Given the description of an element on the screen output the (x, y) to click on. 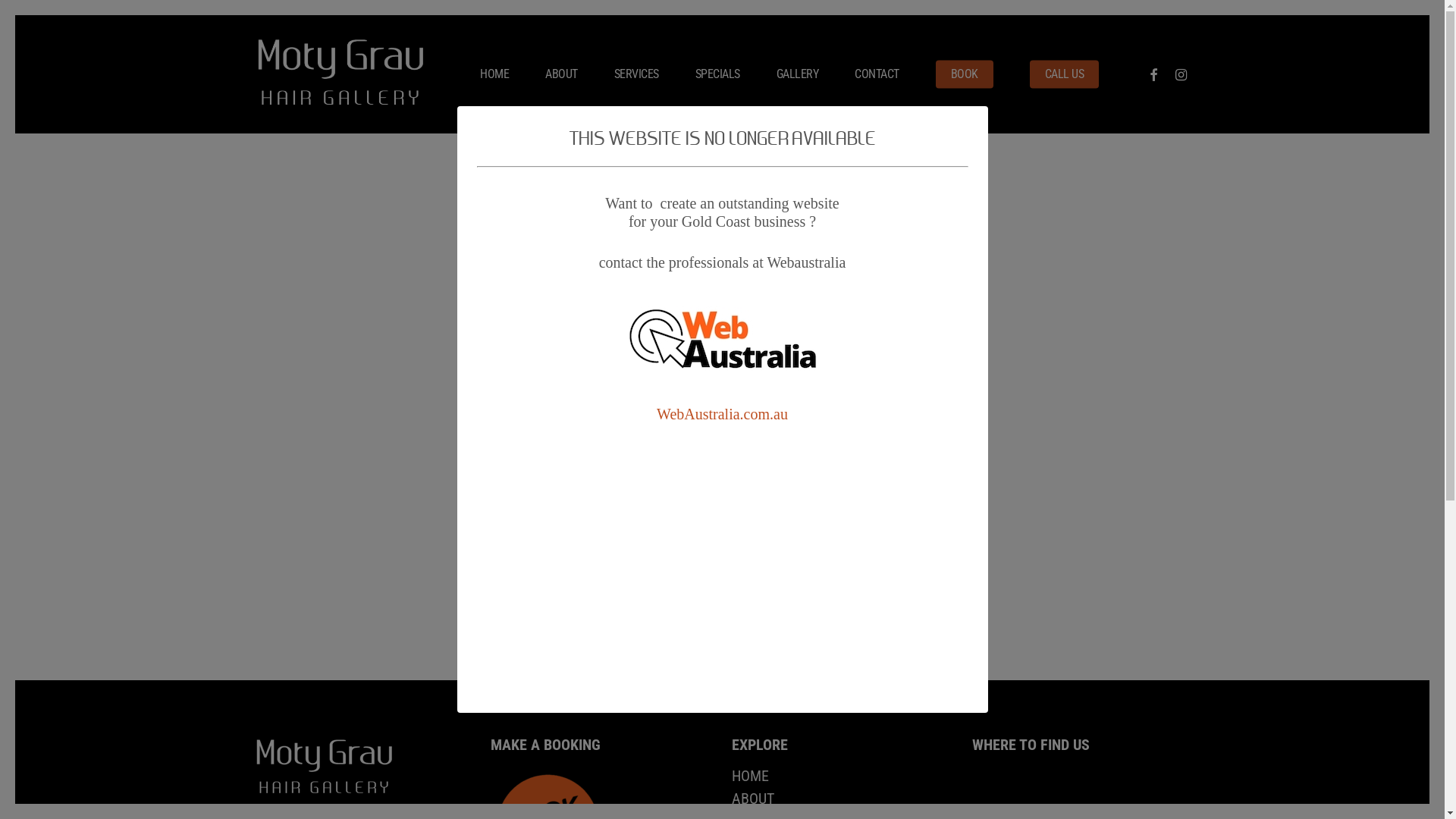
GALLERY Element type: text (797, 73)
BACK HOME Element type: text (722, 543)
SPECIALS Element type: text (716, 73)
BOOK Element type: text (964, 73)
CALL US Element type: text (1064, 73)
FACEBOOK Element type: text (1153, 74)
SERVICES Element type: text (636, 73)
HOME Element type: text (842, 775)
INSTAGRAM Element type: text (1180, 74)
HOME Element type: text (494, 73)
CONTACT Element type: text (876, 73)
ABOUT Element type: text (561, 73)
ABOUT Element type: text (842, 798)
WebAustralia.com.au Element type: text (721, 413)
